Given the description of an element on the screen output the (x, y) to click on. 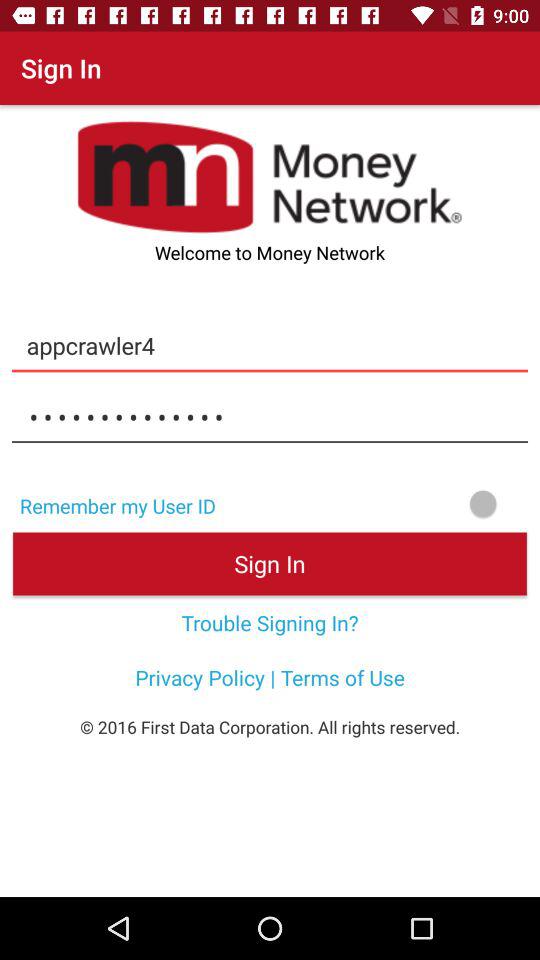
launch item next to the remember my user icon (384, 503)
